Given the description of an element on the screen output the (x, y) to click on. 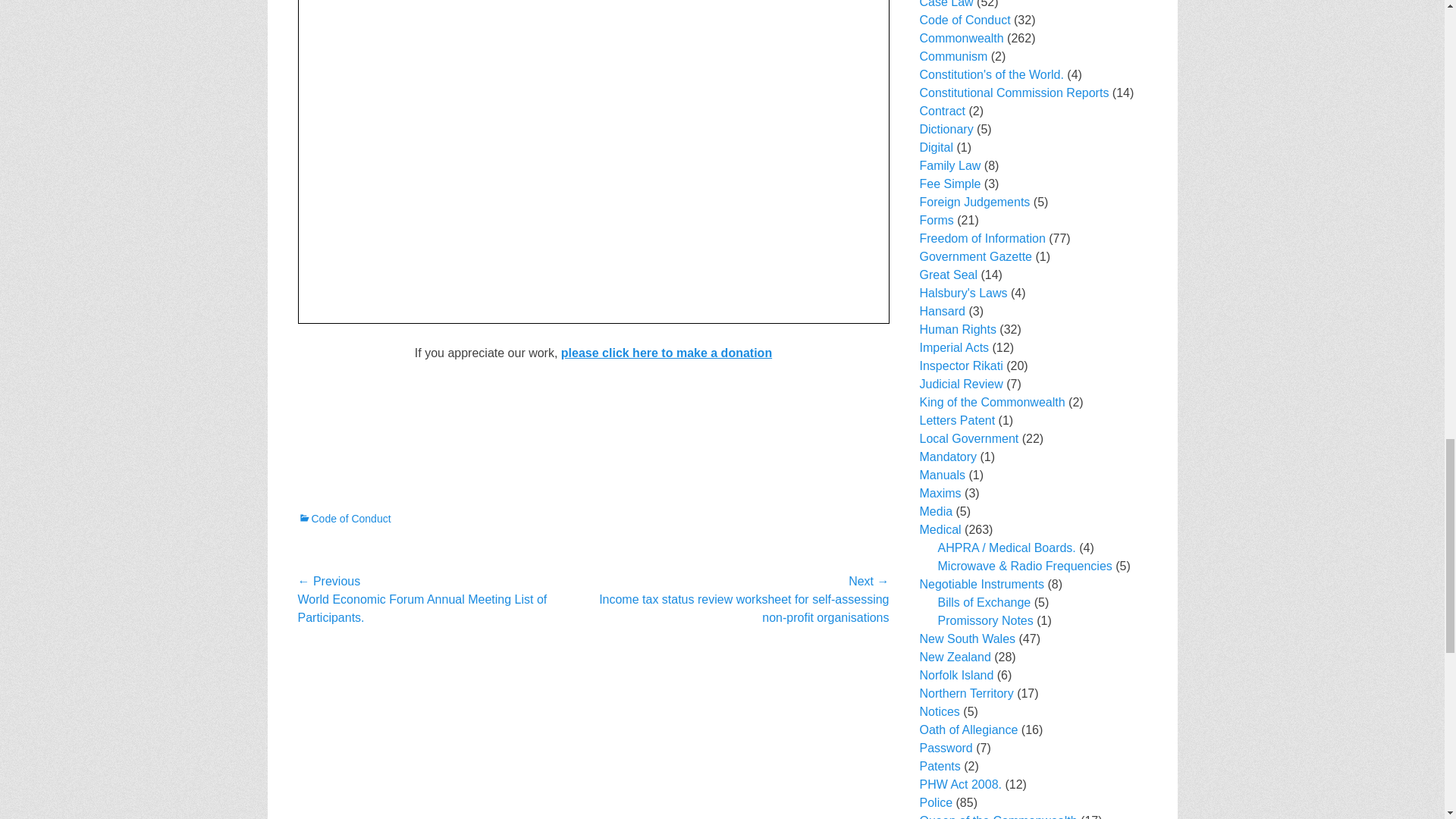
Code of Conduct (343, 518)
please click here to make a donation (665, 352)
